Given the description of an element on the screen output the (x, y) to click on. 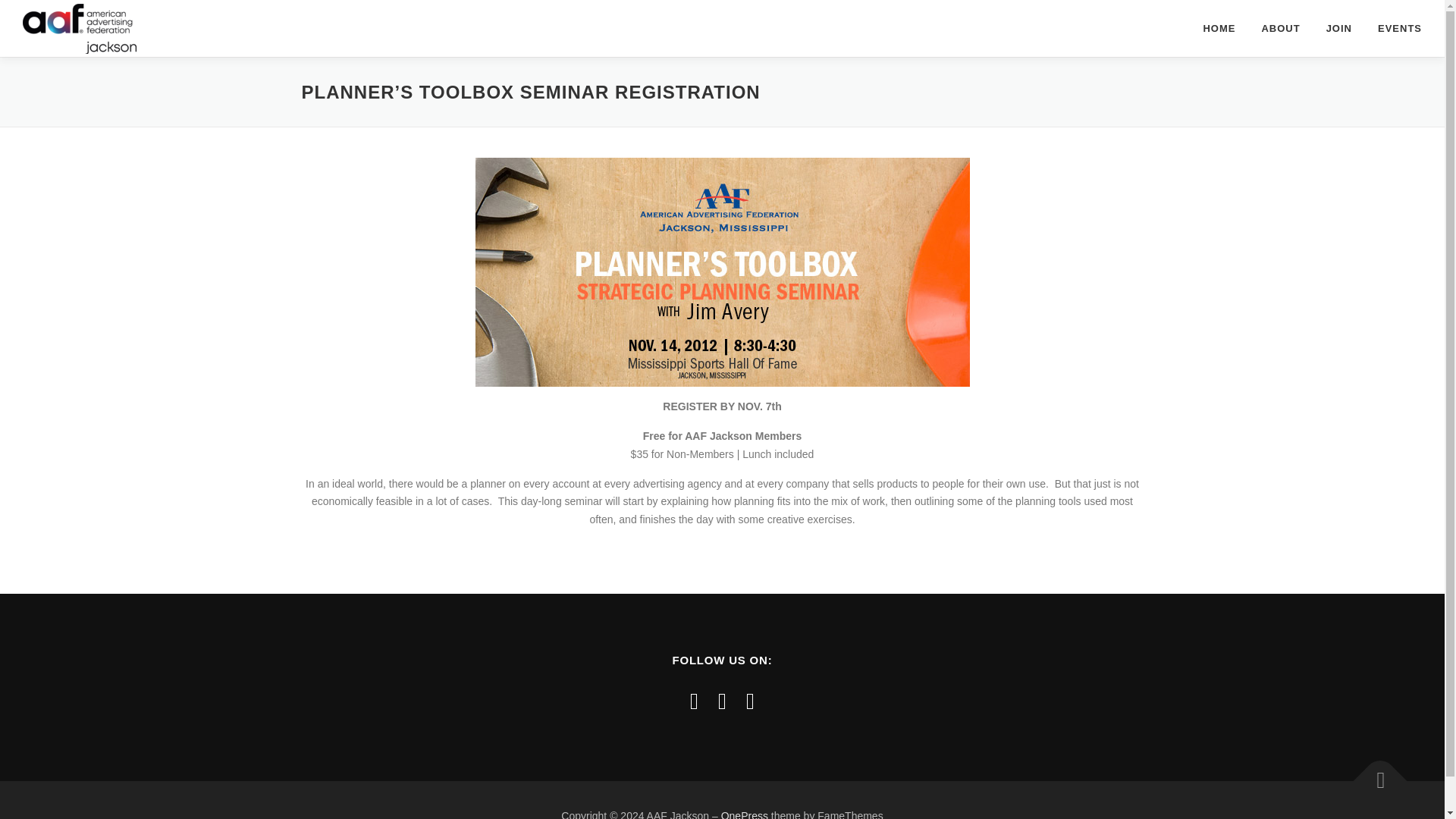
EVENTS (1393, 28)
ABOUT (1280, 28)
OnePress (744, 814)
Back To Top (1372, 773)
JOIN (1339, 28)
HOME (1218, 28)
